Given the description of an element on the screen output the (x, y) to click on. 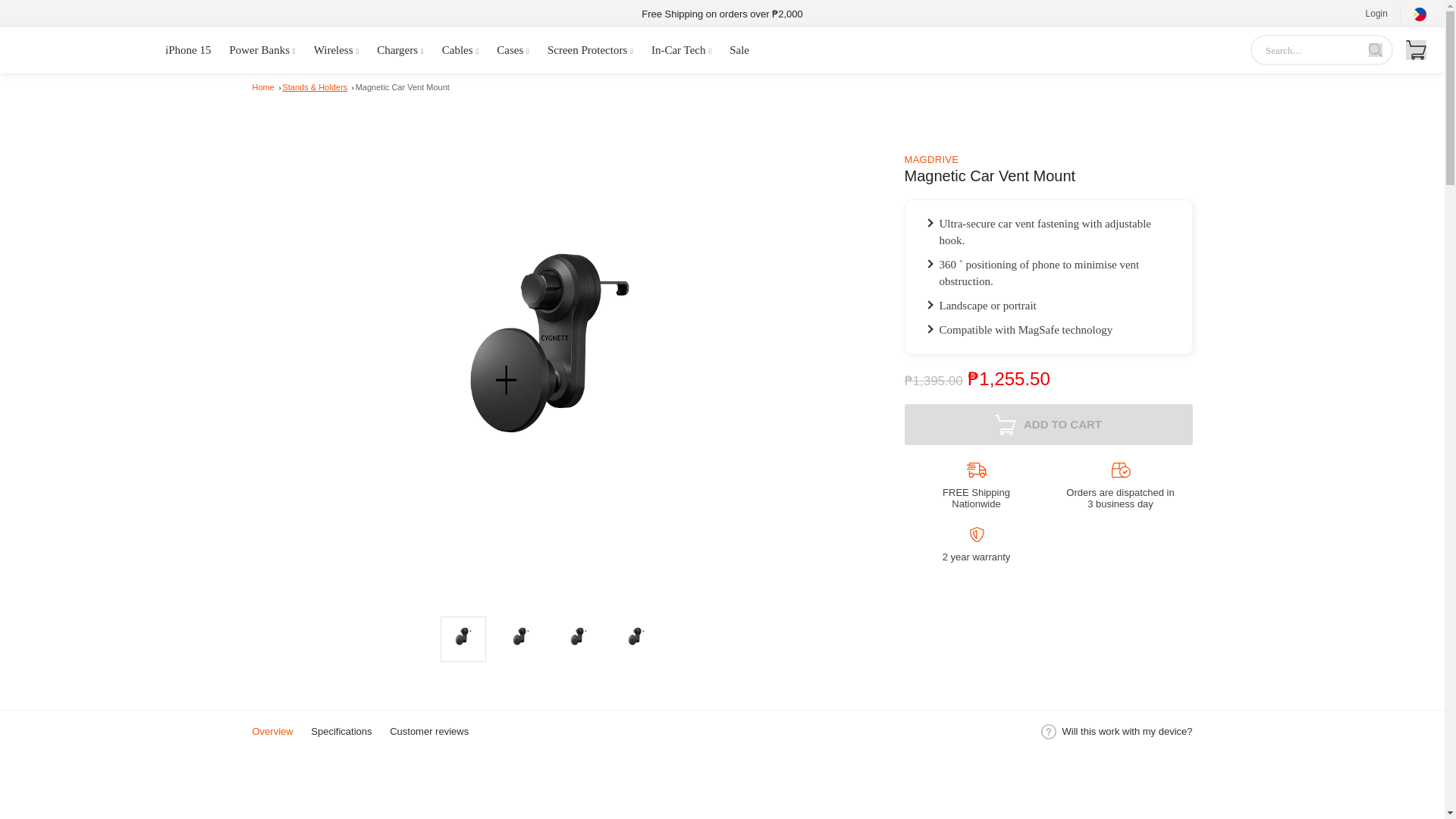
Wireless (336, 50)
Power Banks (261, 50)
Chargers (400, 50)
Login (1375, 13)
iPhone 15 (188, 50)
